Given the description of an element on the screen output the (x, y) to click on. 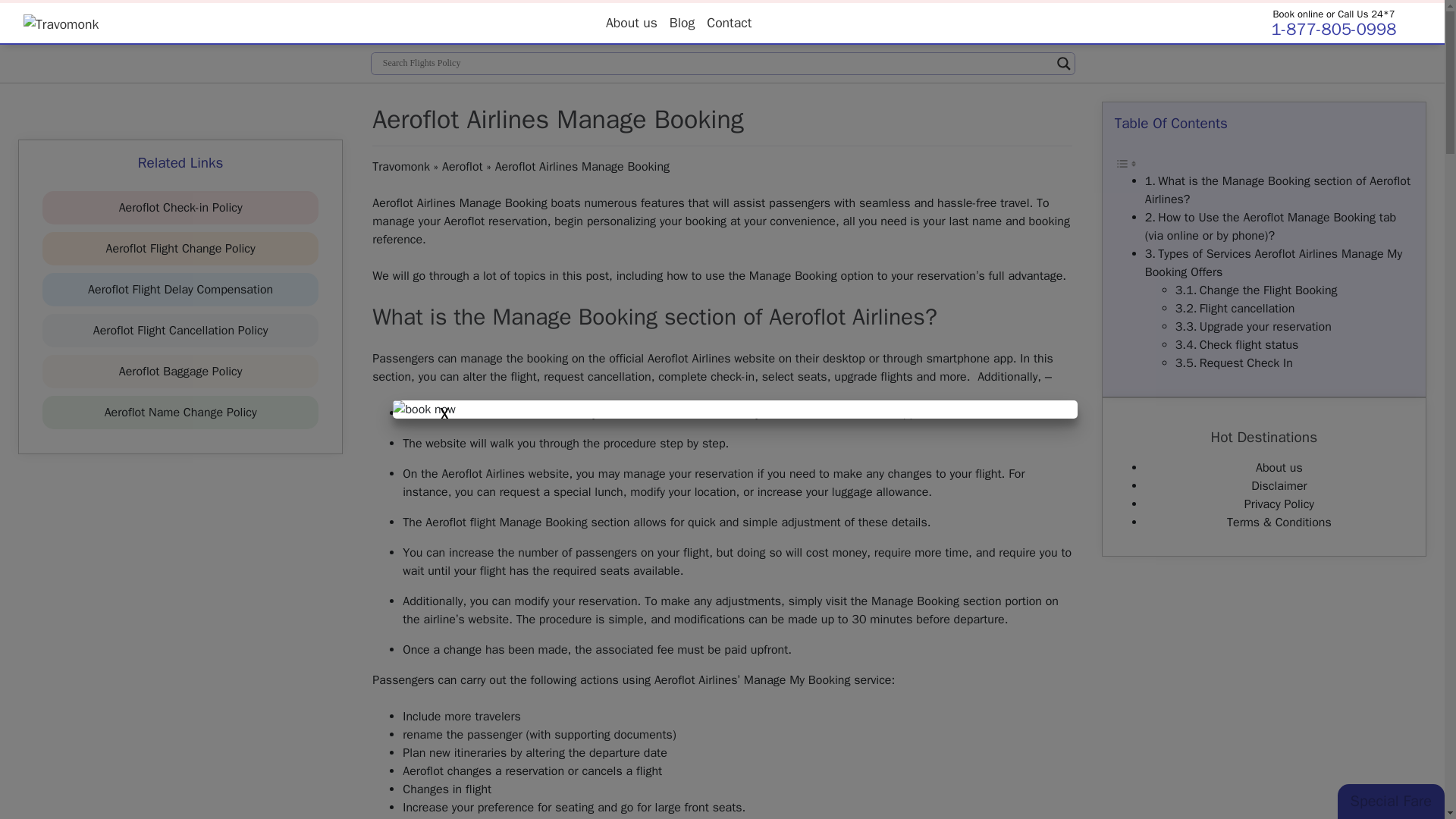
Blog (681, 22)
Contact (728, 22)
Travomonk (400, 166)
Contact (728, 22)
1-877-805-0998 (1333, 29)
Aeroflot Check-in Policy (181, 207)
About us (631, 22)
Aeroflot Baggage Policy (181, 371)
Aeroflot (462, 166)
Blog (681, 22)
